Given the description of an element on the screen output the (x, y) to click on. 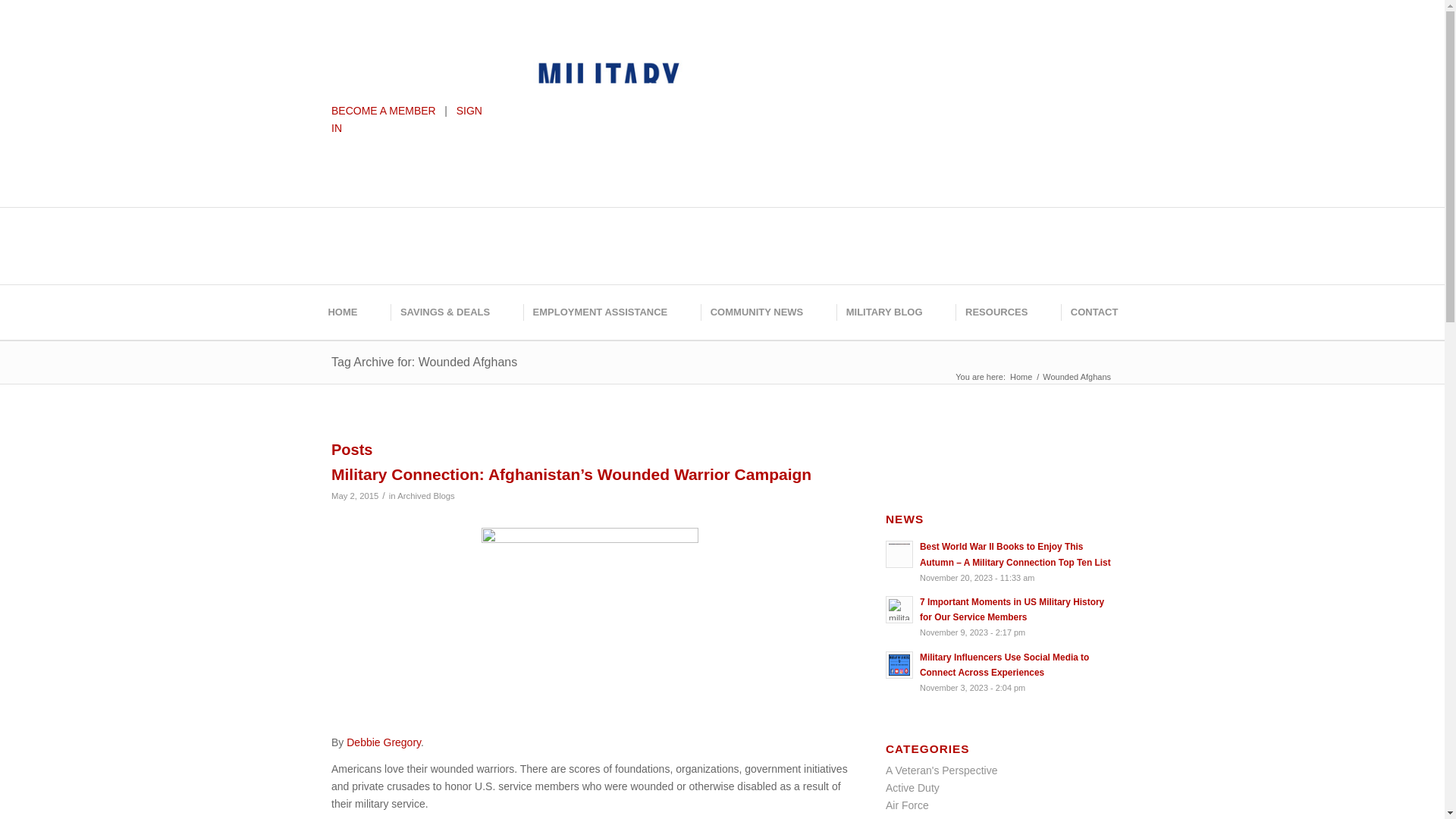
Facebook (737, 48)
Air Force (906, 805)
A Veteran's Perspective (941, 770)
Archived Blogs (920, 818)
Pinterest (804, 48)
EMPLOYMENT ASSISTANCE (598, 311)
RESOURCES (995, 311)
SIGN IN (406, 119)
Debbie Gregory (383, 742)
Tag Archive for: Wounded Afghans (423, 361)
BECOME A MEMBER (383, 110)
Home (1020, 377)
